Given the description of an element on the screen output the (x, y) to click on. 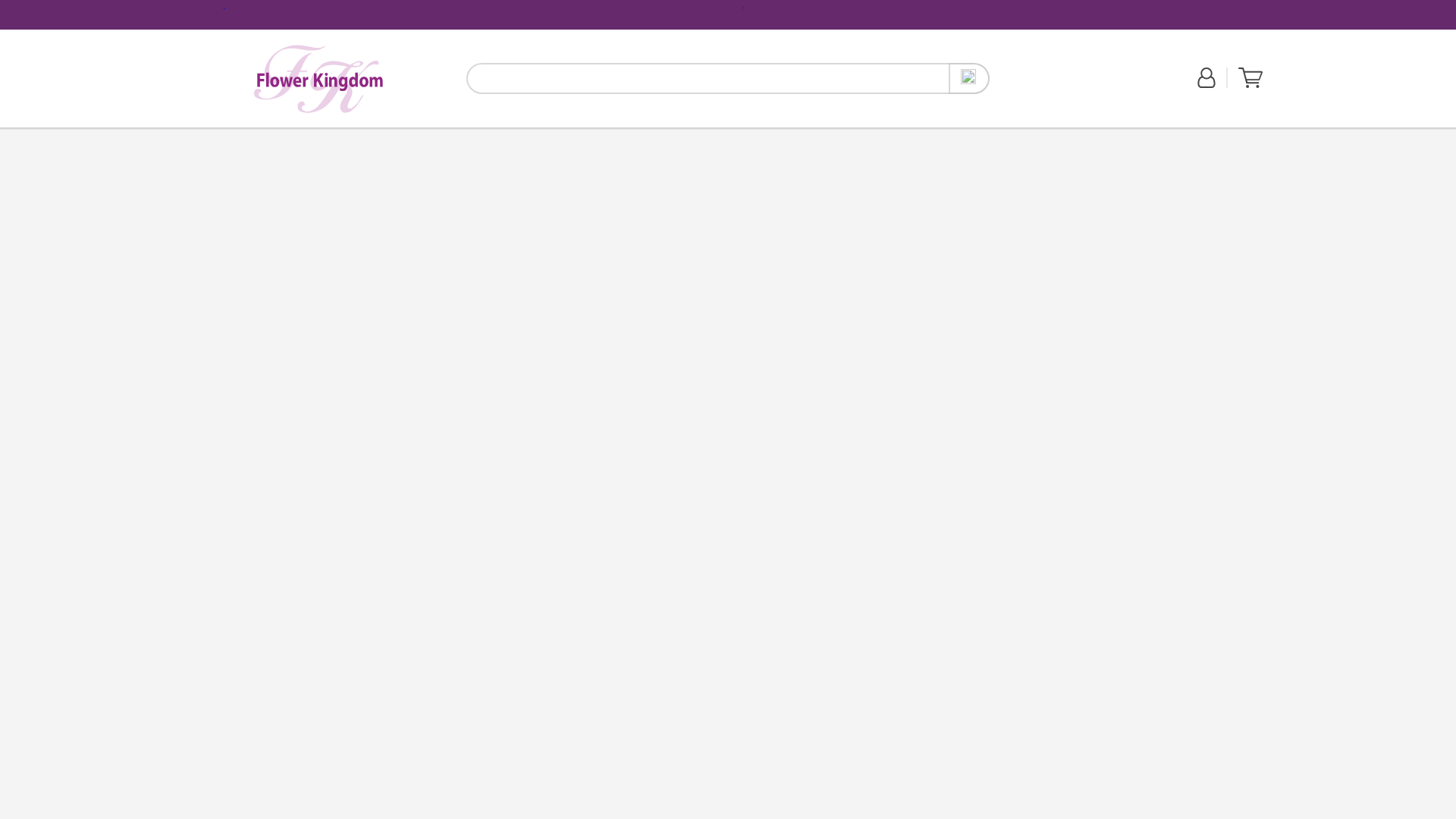
Search (969, 78)
View Your Shopping Cart (1250, 77)
Just Because (338, 135)
Get Well (386, 135)
Set ZIP Code (1044, 86)
View Your Shopping Cart (1250, 84)
Birthday (292, 135)
Sympathy (430, 136)
Back to the Home Page (318, 78)
Flower Kingdom Logo (317, 79)
